Given the description of an element on the screen output the (x, y) to click on. 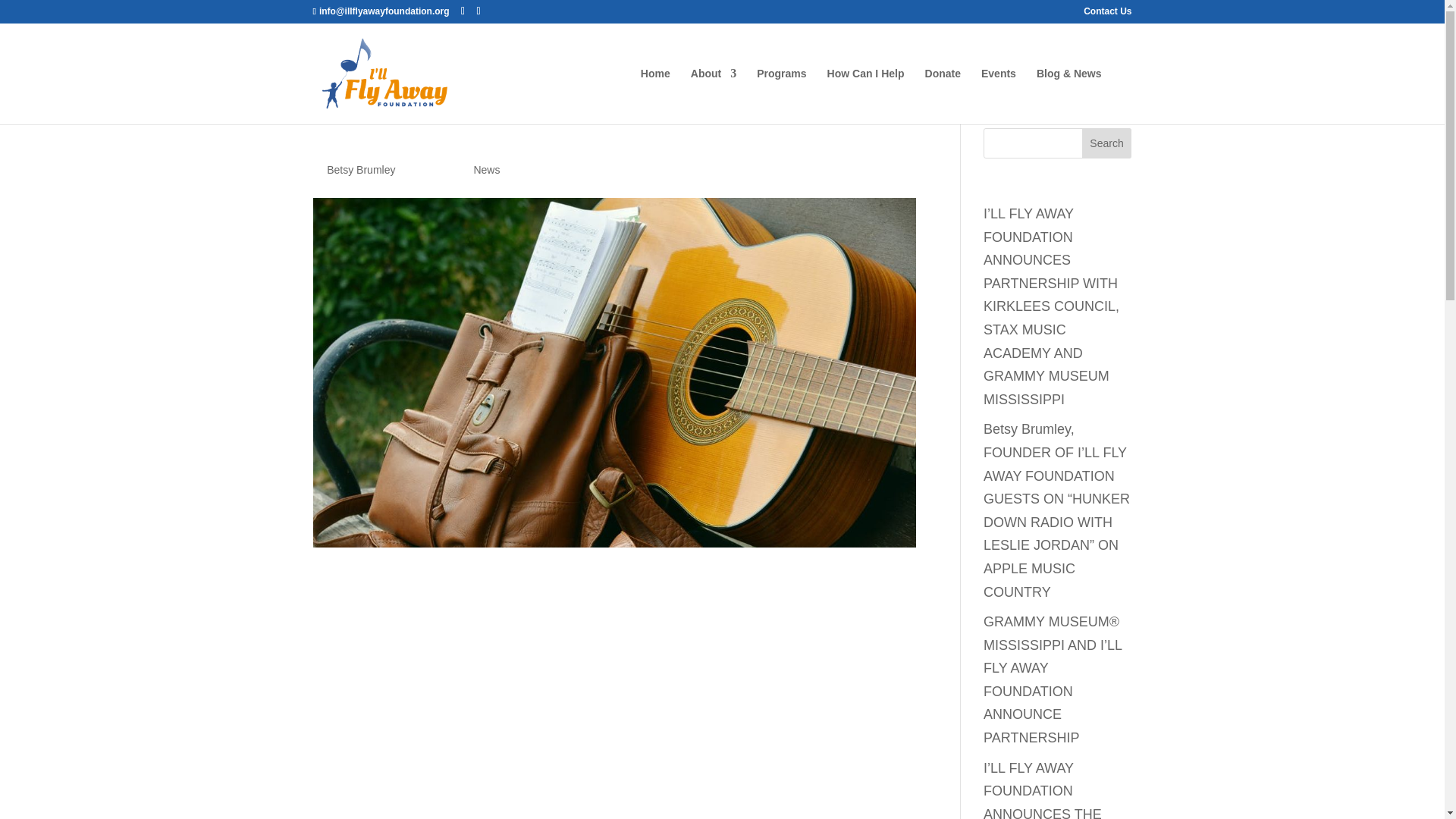
How Can I Help (865, 95)
Search (1106, 142)
News (486, 169)
Search (1106, 142)
Contact Us (1107, 14)
Posts by Betsy Brumley (360, 169)
Betsy Brumley (360, 169)
